Given the description of an element on the screen output the (x, y) to click on. 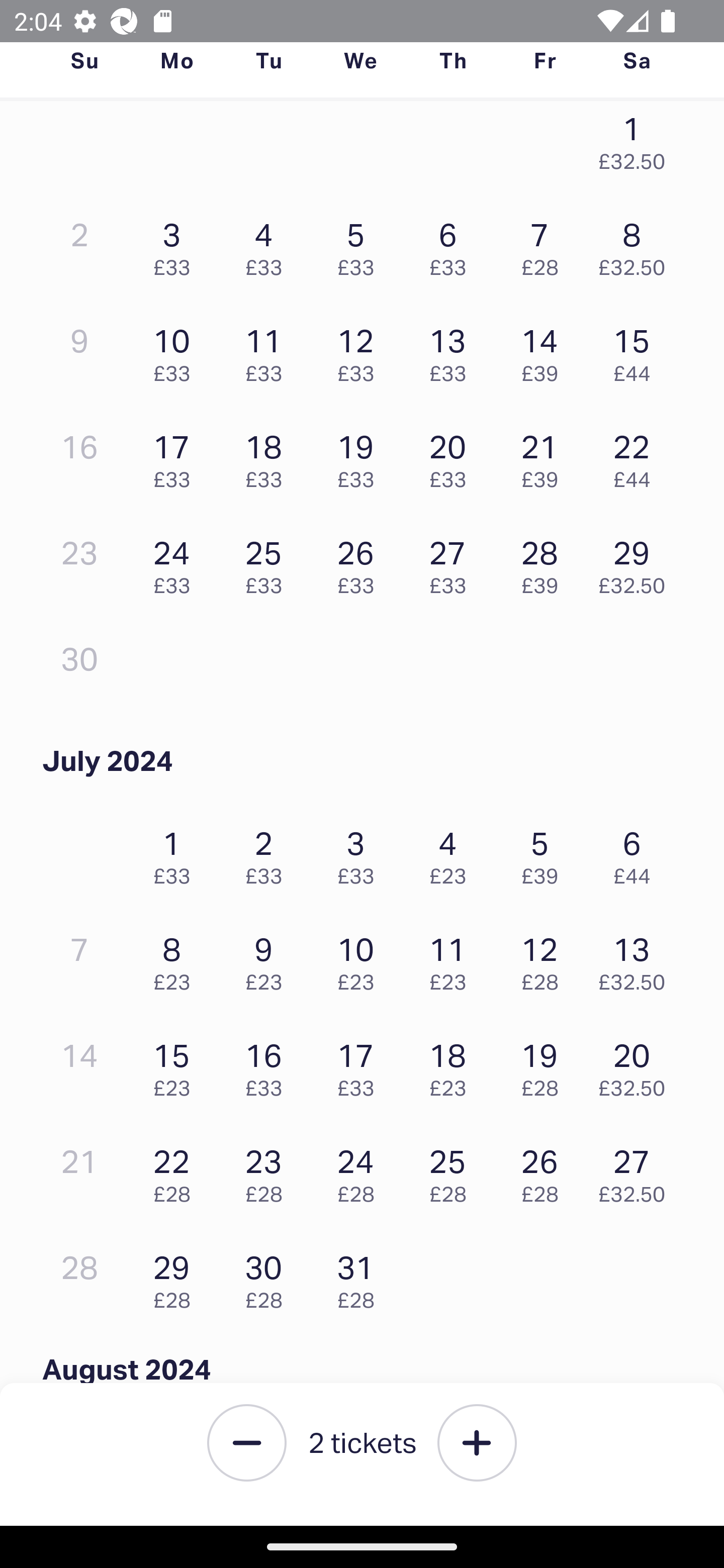
1 £32.50 (636, 144)
3 £33 (176, 244)
4 £33 (268, 244)
5 £33 (360, 244)
6 £33 (452, 244)
7 £28 (544, 244)
8 £32.50 (636, 244)
10 £33 (176, 350)
11 £33 (268, 350)
12 £33 (360, 350)
13 £33 (452, 350)
14 £39 (544, 350)
15 £44 (636, 350)
17 £33 (176, 456)
18 £33 (268, 456)
19 £33 (360, 456)
20 £33 (452, 456)
21 £39 (544, 456)
22 £44 (636, 456)
24 £33 (176, 561)
25 £33 (268, 561)
26 £33 (360, 561)
27 £33 (452, 561)
28 £39 (544, 561)
29 £32.50 (636, 561)
1 £33 (176, 852)
2 £33 (268, 852)
3 £33 (360, 852)
4 £23 (452, 852)
5 £39 (544, 852)
6 £44 (636, 852)
8 £23 (176, 958)
9 £23 (268, 958)
10 £23 (360, 958)
11 £23 (452, 958)
12 £28 (544, 958)
13 £32.50 (636, 958)
15 £23 (176, 1065)
16 £33 (268, 1065)
17 £33 (360, 1065)
18 £23 (452, 1065)
19 £28 (544, 1065)
20 £32.50 (636, 1065)
22 £28 (176, 1171)
23 £28 (268, 1171)
24 £28 (360, 1171)
25 £28 (452, 1171)
26 £28 (544, 1171)
27 £32.50 (636, 1171)
29 £28 (176, 1276)
